Given the description of an element on the screen output the (x, y) to click on. 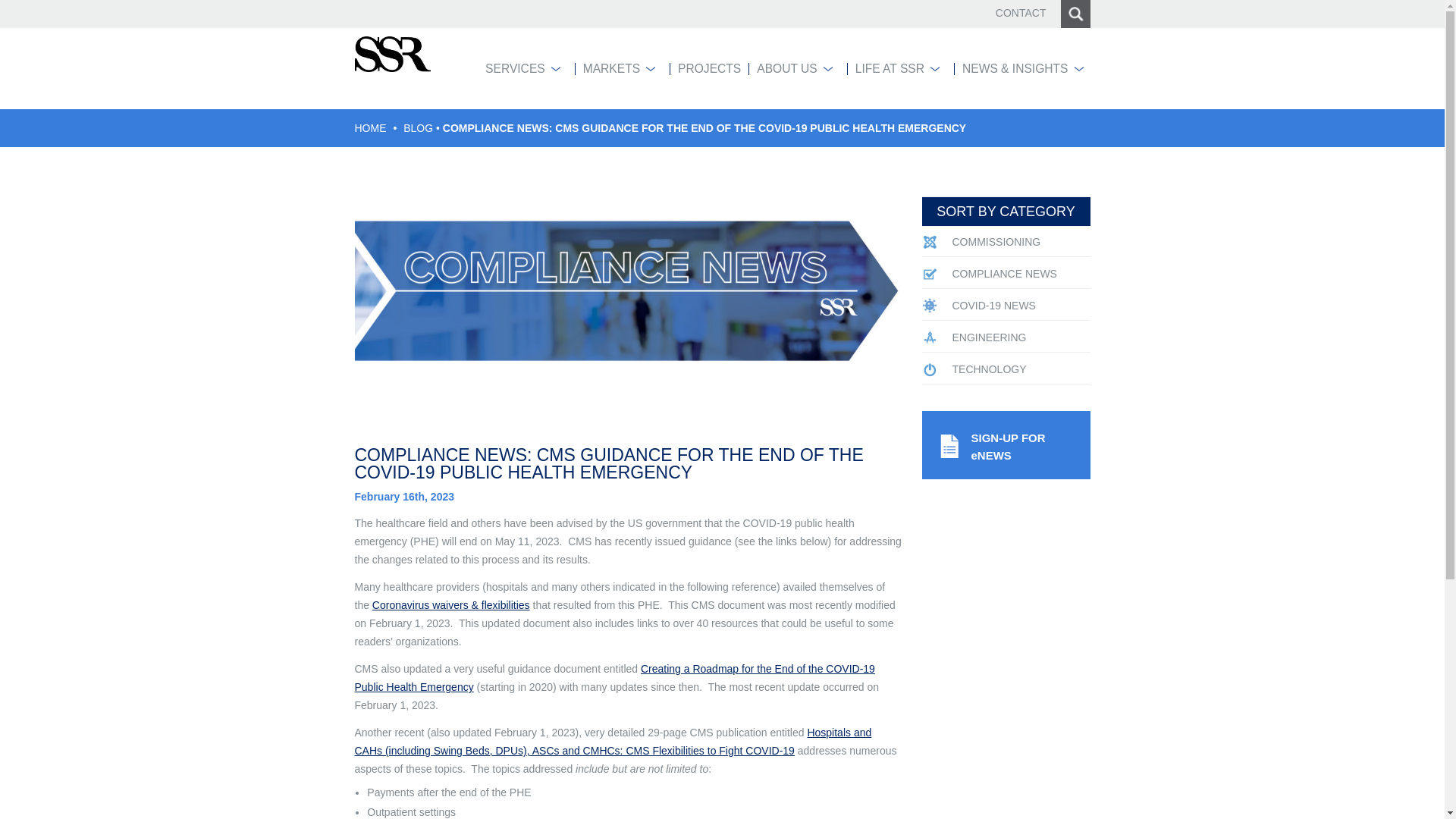
ABOUT US (789, 69)
MARKETS (614, 69)
CONTACT (1020, 12)
SERVICES (518, 69)
LIFE AT SSR (893, 69)
PROJECTS (701, 69)
